Given the description of an element on the screen output the (x, y) to click on. 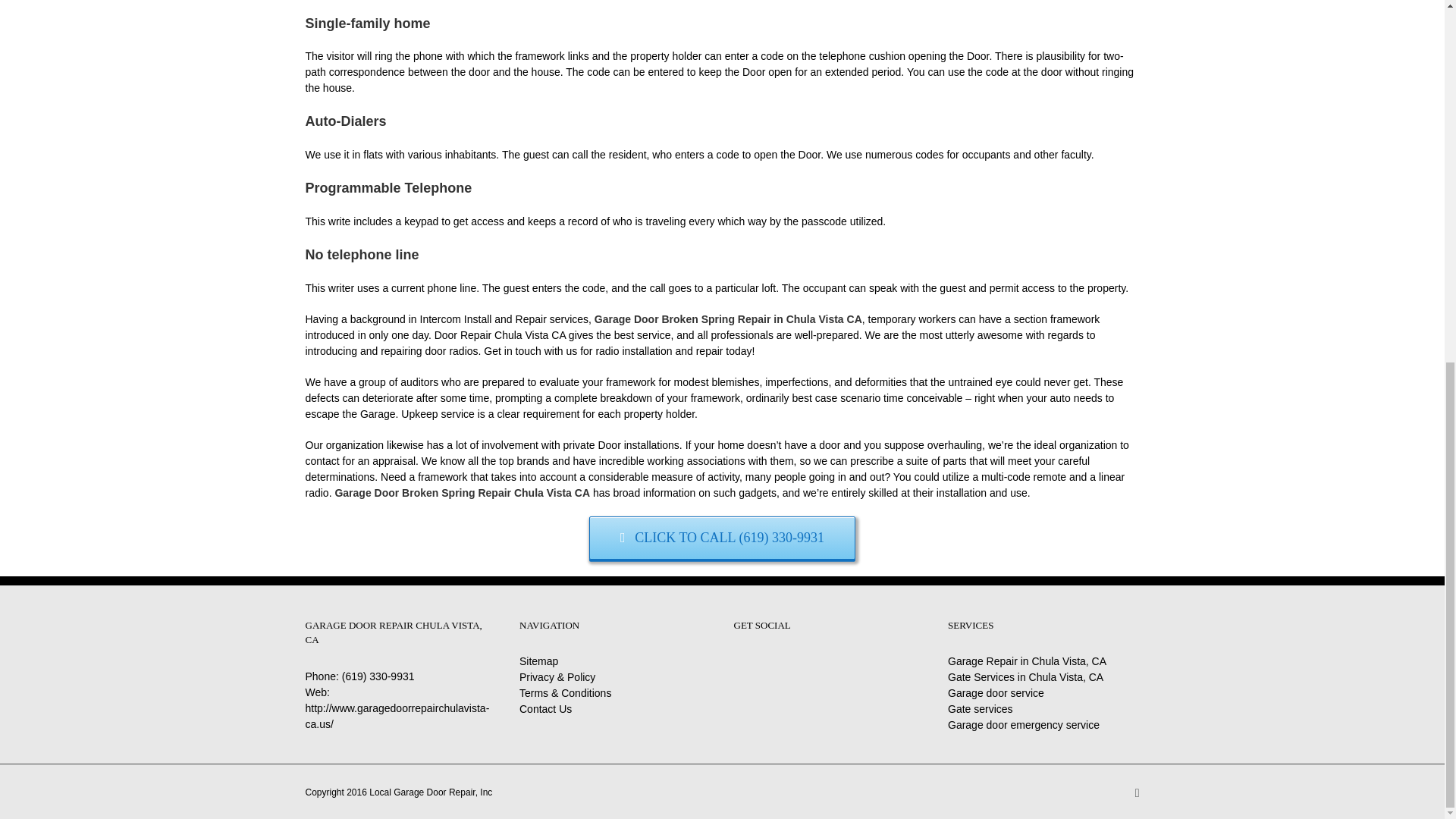
Garage Door Broken Spring Repair Chula Vista CA (461, 492)
Contact Us (545, 708)
Gate Services in Chula Vista, CA (1025, 676)
Garage Door Broken Spring Repair in Chula Vista CA (727, 318)
Sitemap (538, 661)
Gate services (980, 708)
Garage door emergency service (1023, 725)
Garage Repair in Chula Vista, CA (1026, 661)
Garage door service (995, 693)
